Given the description of an element on the screen output the (x, y) to click on. 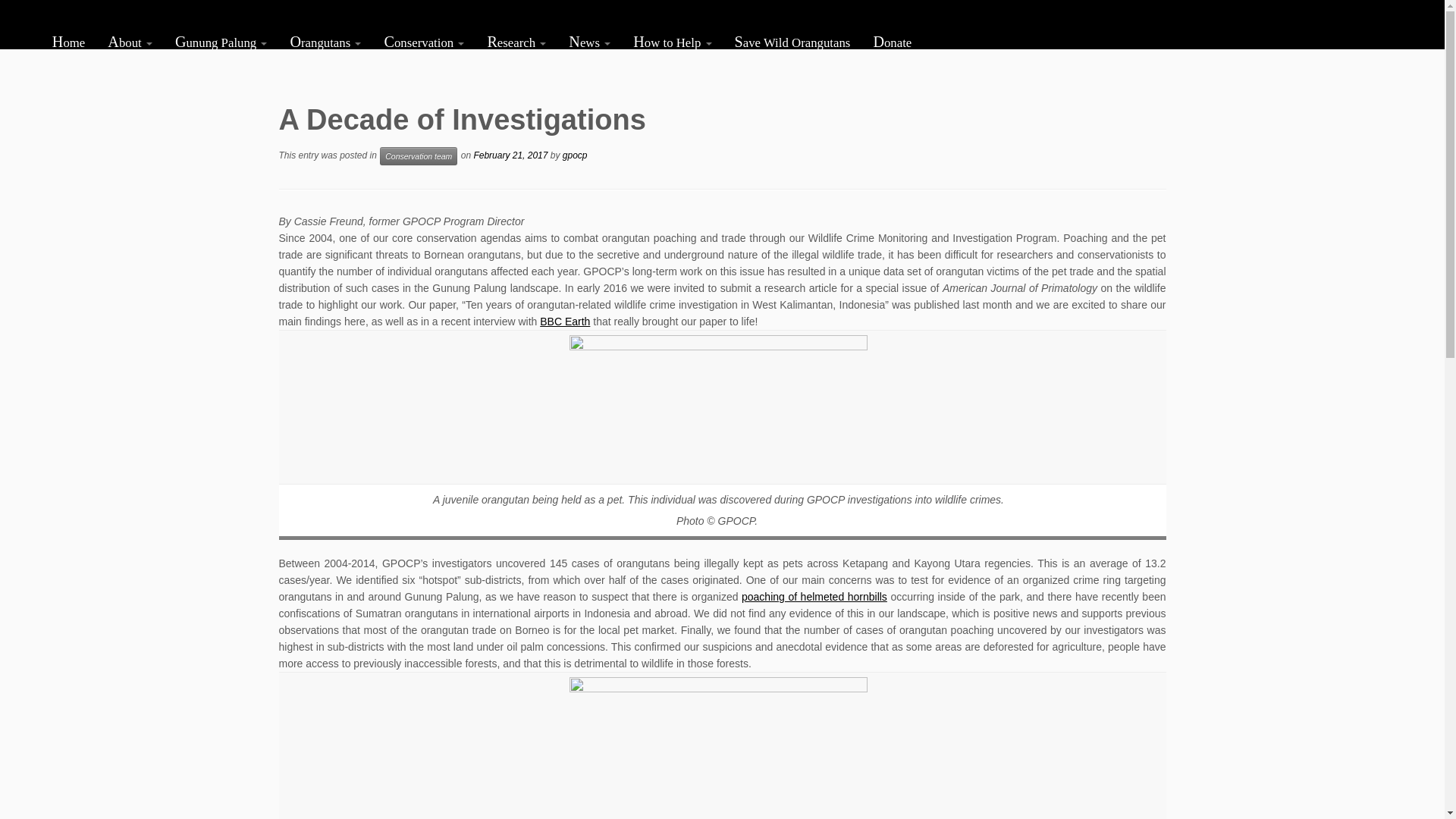
Save Wild Orangutans (792, 41)
How to Help (671, 41)
View all posts by gpocp (575, 154)
View all posts in Conservation team (418, 156)
Home (72, 41)
Research (516, 41)
Gunung Palung (221, 41)
News (589, 41)
9:49 am (510, 154)
About (129, 41)
BBC Earth (564, 321)
gpocp (575, 154)
Conservation team (418, 156)
February 21, 2017 (510, 154)
Donate (886, 41)
